Given the description of an element on the screen output the (x, y) to click on. 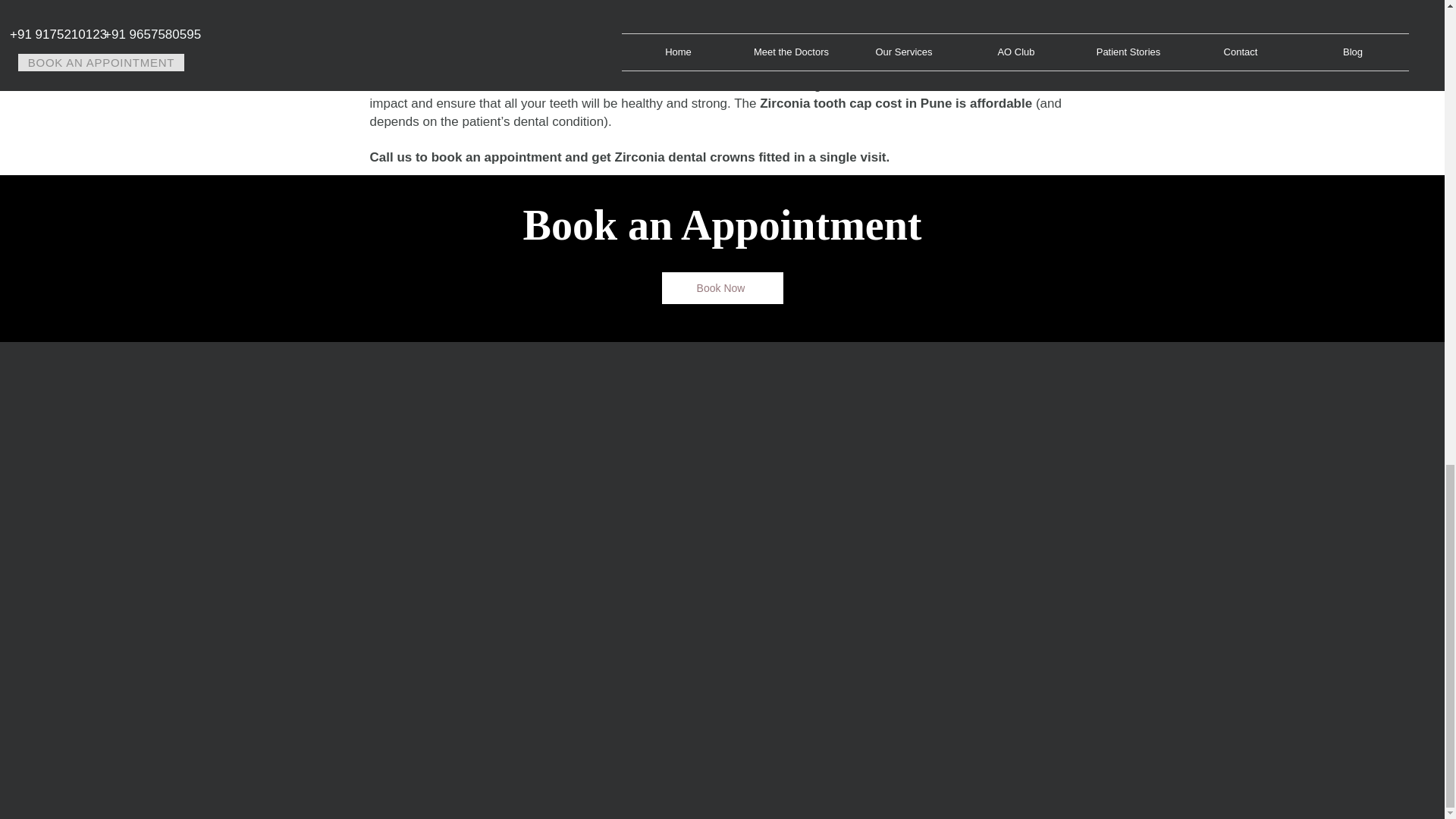
Book Now (722, 287)
